Given the description of an element on the screen output the (x, y) to click on. 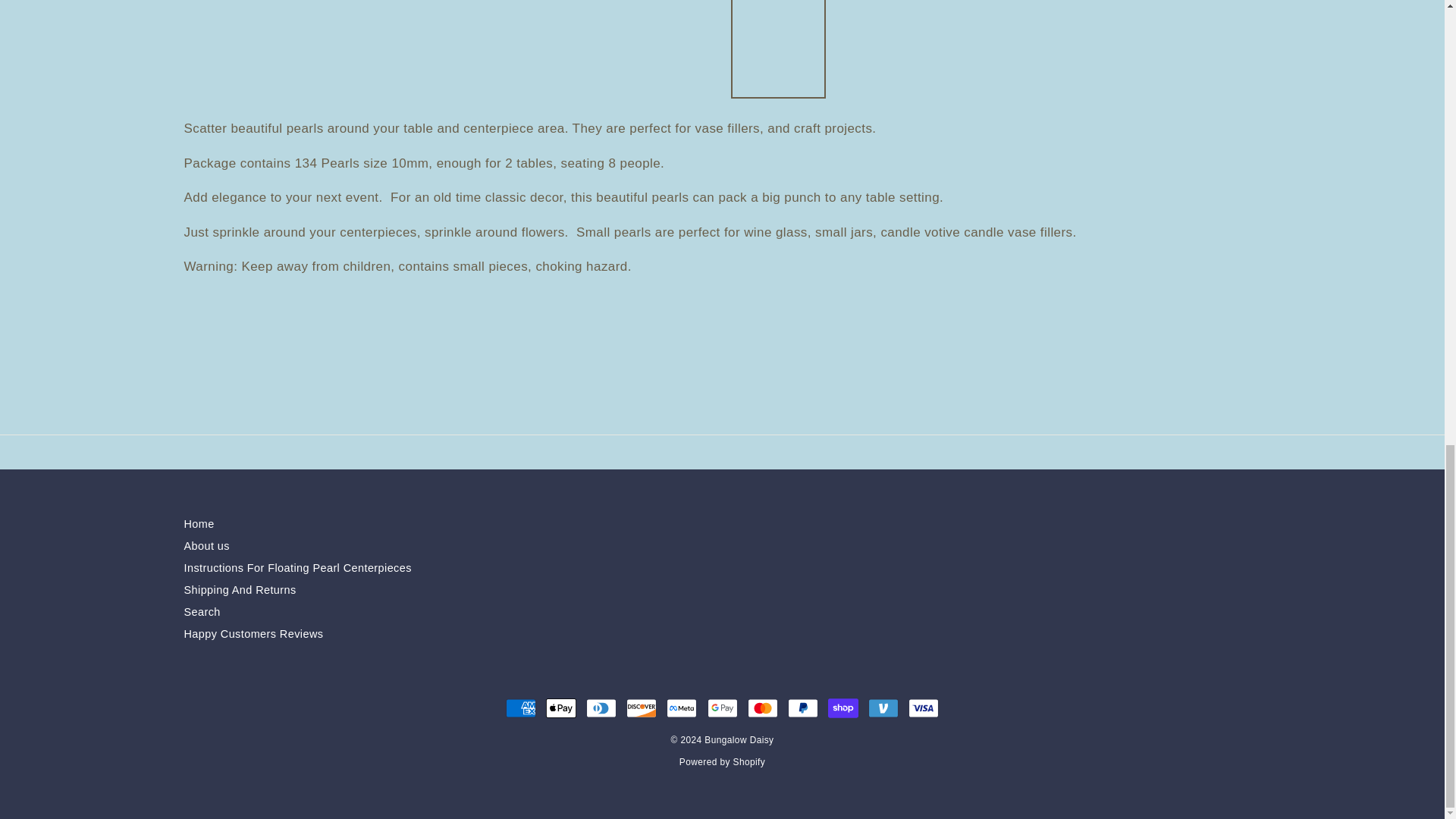
Meta Pay (681, 707)
American Express (520, 707)
PayPal (802, 707)
Google Pay (721, 707)
Apple Pay (561, 707)
Discover (641, 707)
Diners Club (600, 707)
Mastercard (762, 707)
Visa (923, 707)
Venmo (882, 707)
Shop Pay (843, 707)
